Given the description of an element on the screen output the (x, y) to click on. 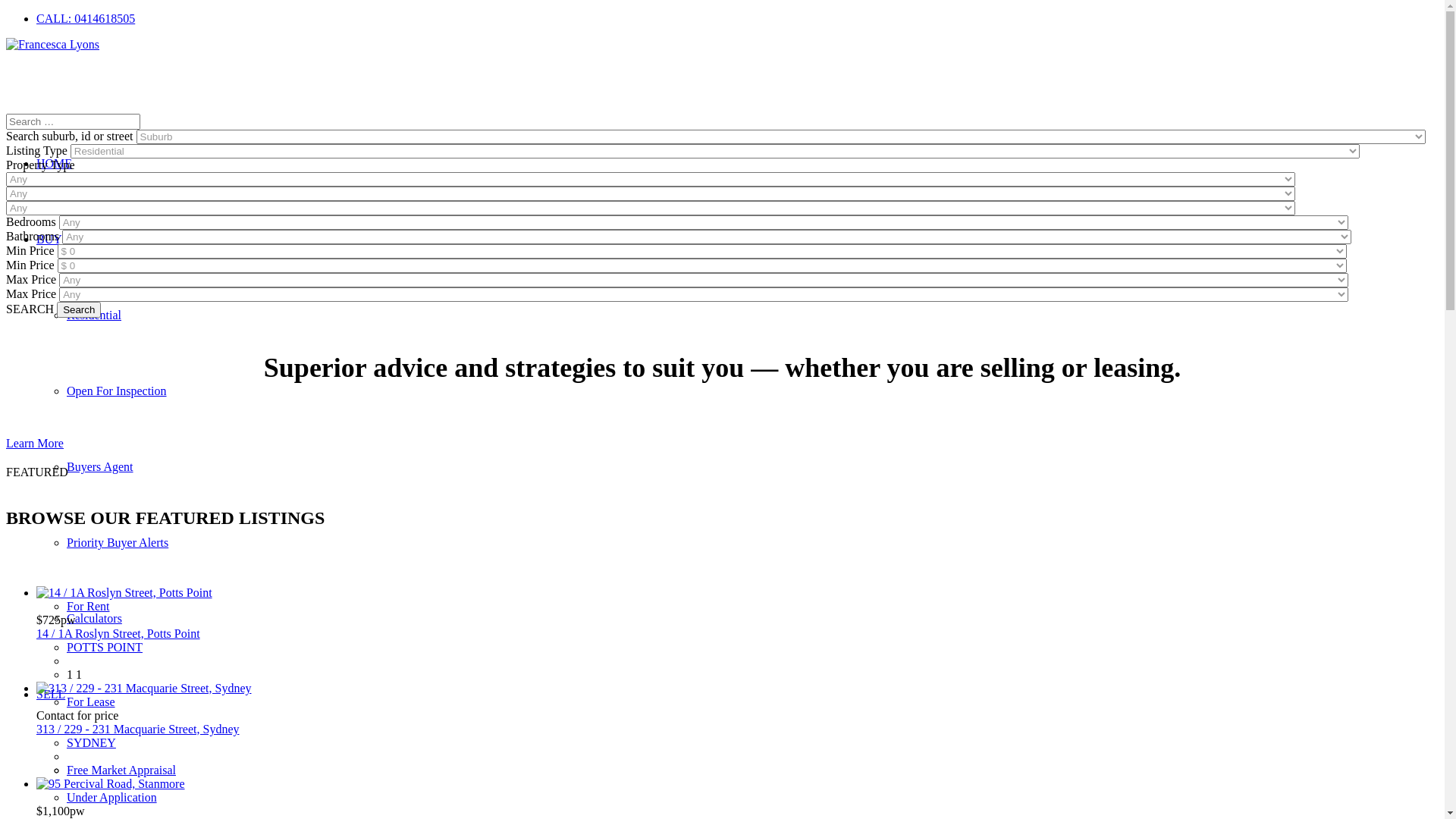
Free Market Appraisal Element type: text (120, 769)
14 / 1A Roslyn Street, Potts Point Element type: text (118, 633)
POTTS POINT Element type: text (104, 646)
For Lease Element type: text (90, 701)
CALL: 0414618505 Element type: text (85, 18)
Priority Buyer Alerts Element type: text (117, 542)
SYDNEY Element type: text (91, 742)
Open For Inspection Element type: text (116, 390)
For Rent Element type: text (87, 605)
Search Element type: text (78, 309)
Residential Element type: text (93, 314)
Under Application Element type: text (111, 796)
313 / 229 - 231 Macquarie Street, Sydney Element type: text (137, 728)
SELL Element type: text (50, 693)
Calculators Element type: text (94, 617)
Learn More Element type: text (34, 442)
BUY Element type: text (49, 238)
Buyers Agent Element type: text (99, 466)
HOME Element type: text (54, 162)
